Given the description of an element on the screen output the (x, y) to click on. 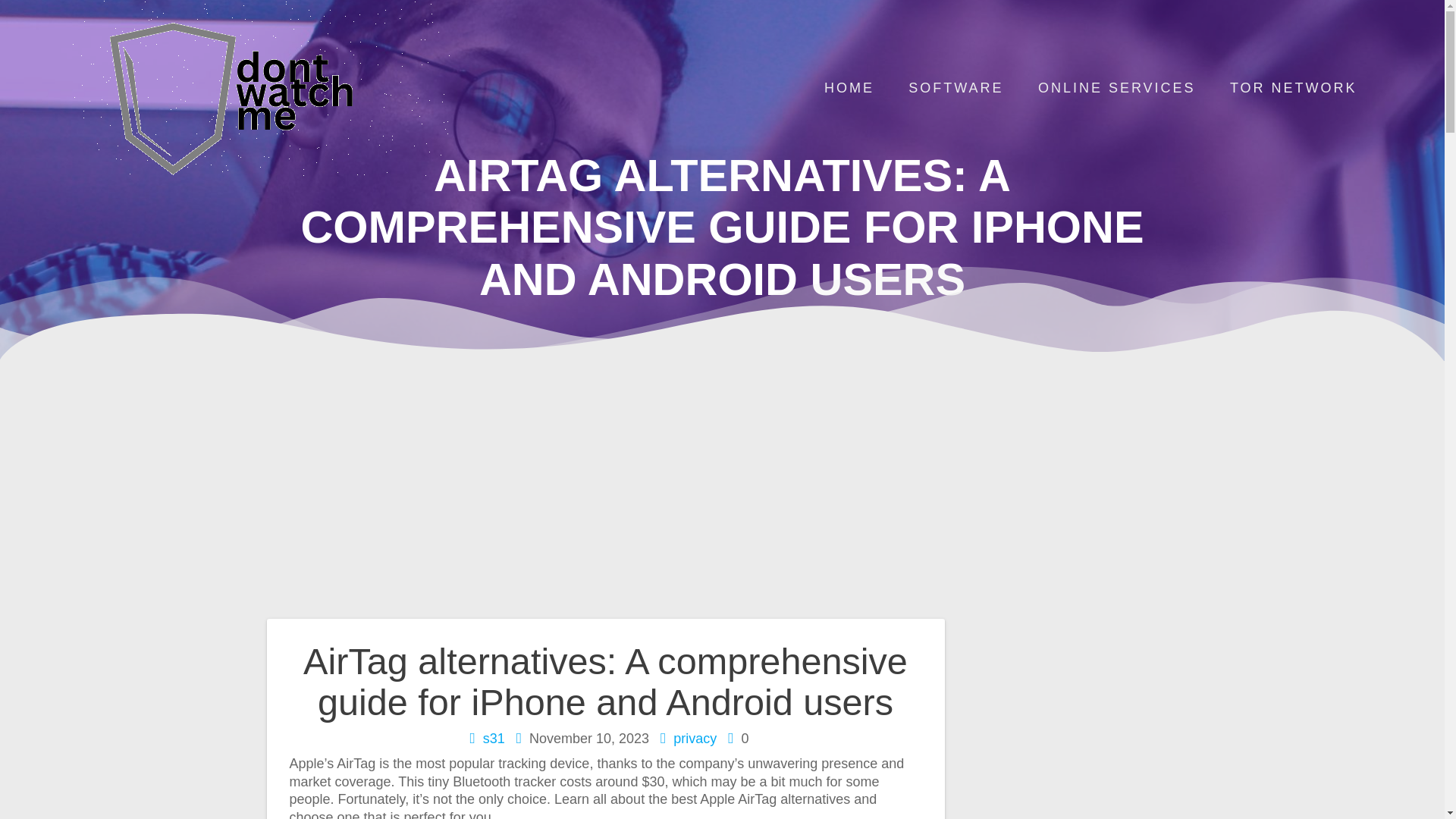
privacy (694, 738)
Posts by s31 (494, 738)
SOFTWARE (955, 88)
TOR NETWORK (1293, 88)
ONLINE SERVICES (1116, 88)
s31 (494, 738)
